Given the description of an element on the screen output the (x, y) to click on. 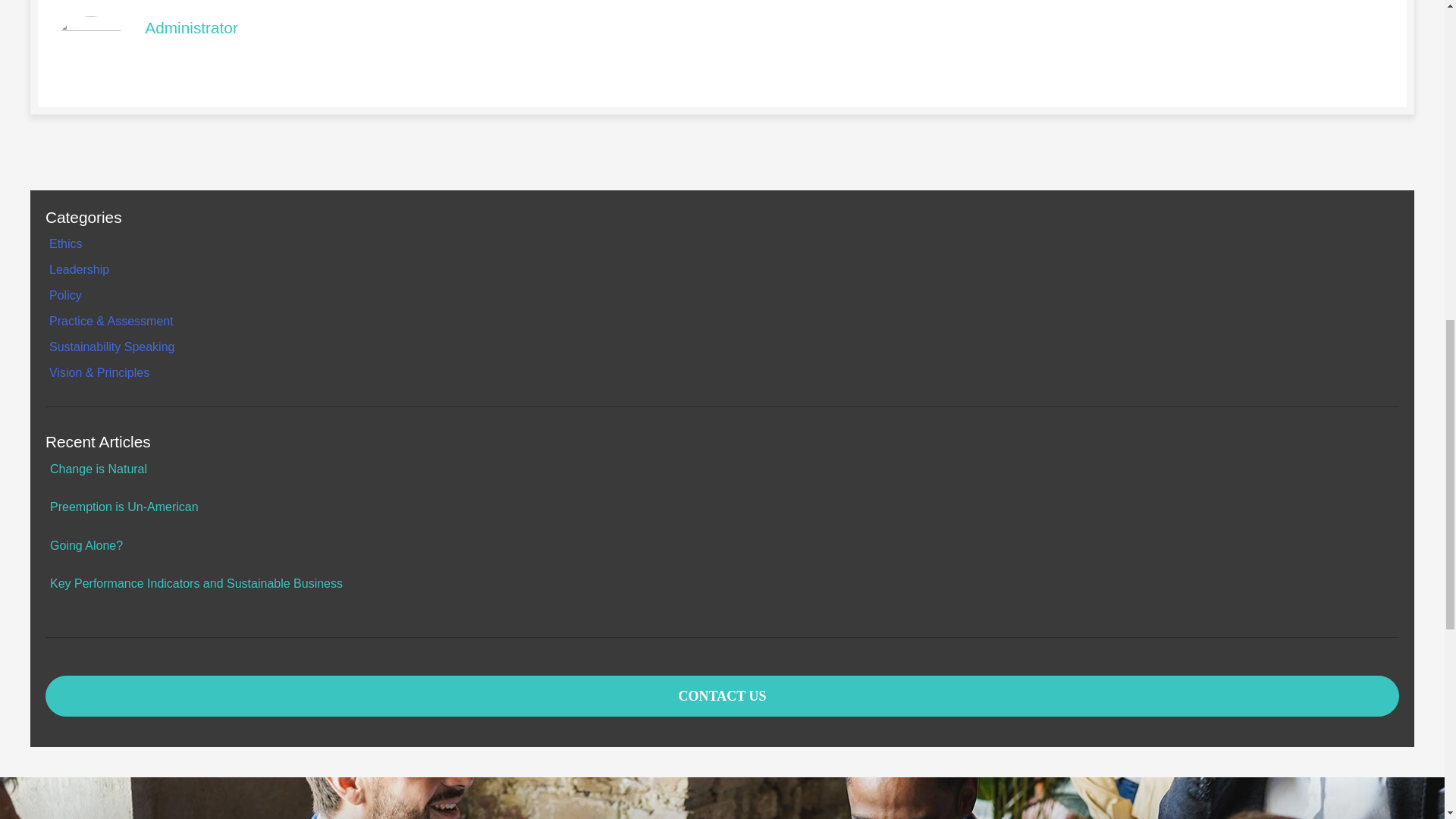
Administrator (191, 27)
Preemption is Un-American (123, 506)
Going Alone? (85, 545)
Change is Natural (98, 468)
Key Performance Indicators and Sustainable Business (195, 583)
